Given the description of an element on the screen output the (x, y) to click on. 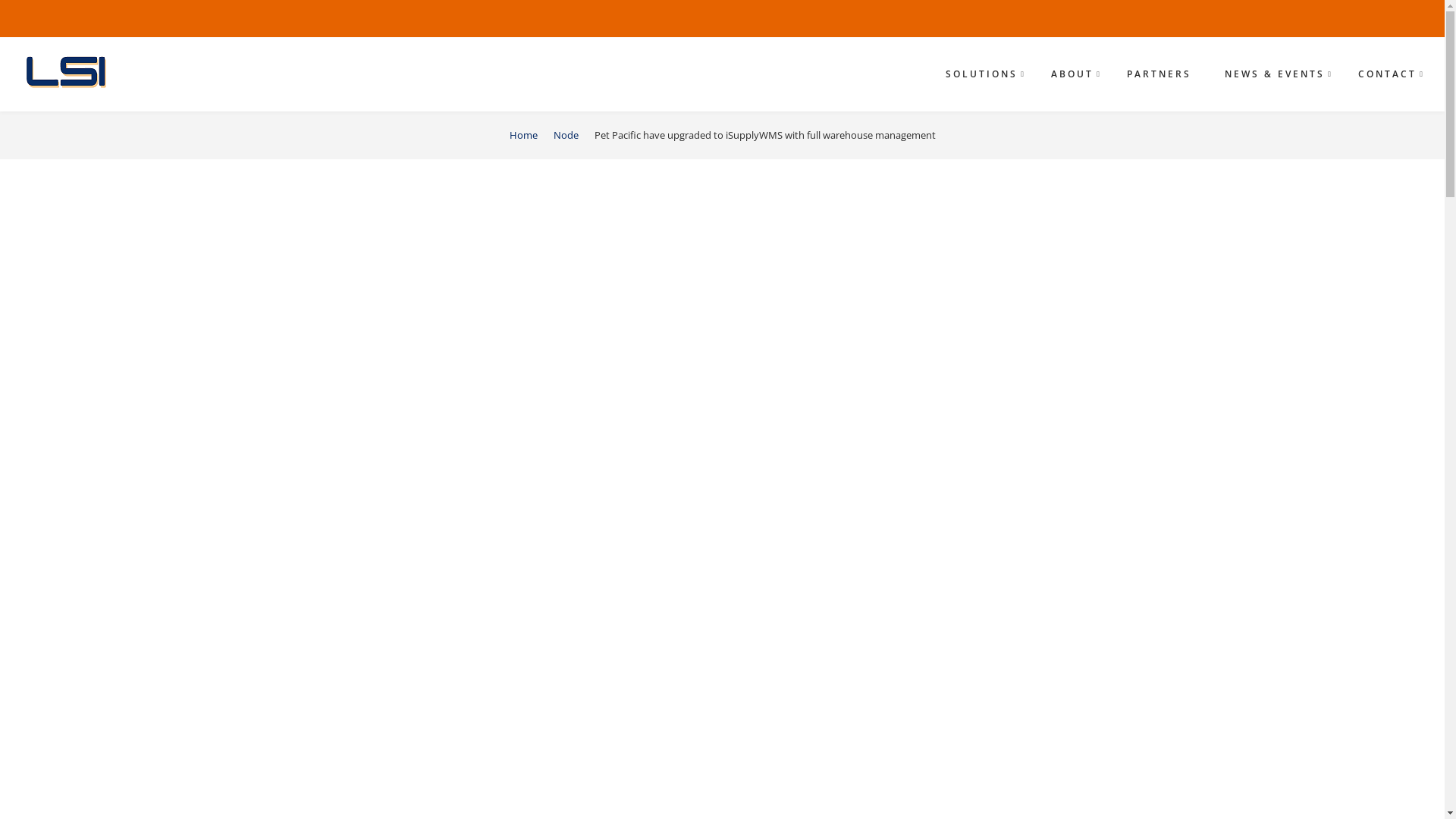
ABOUT Element type: text (1072, 73)
Home Element type: hover (71, 71)
SOLUTIONS Element type: text (981, 73)
Node Element type: text (565, 134)
NEWS & EVENTS Element type: text (1274, 73)
CONTACT Element type: text (1387, 73)
Skip to main content Element type: text (0, 0)
Home Element type: text (523, 134)
PARTNERS Element type: text (1158, 73)
